Given the description of an element on the screen output the (x, y) to click on. 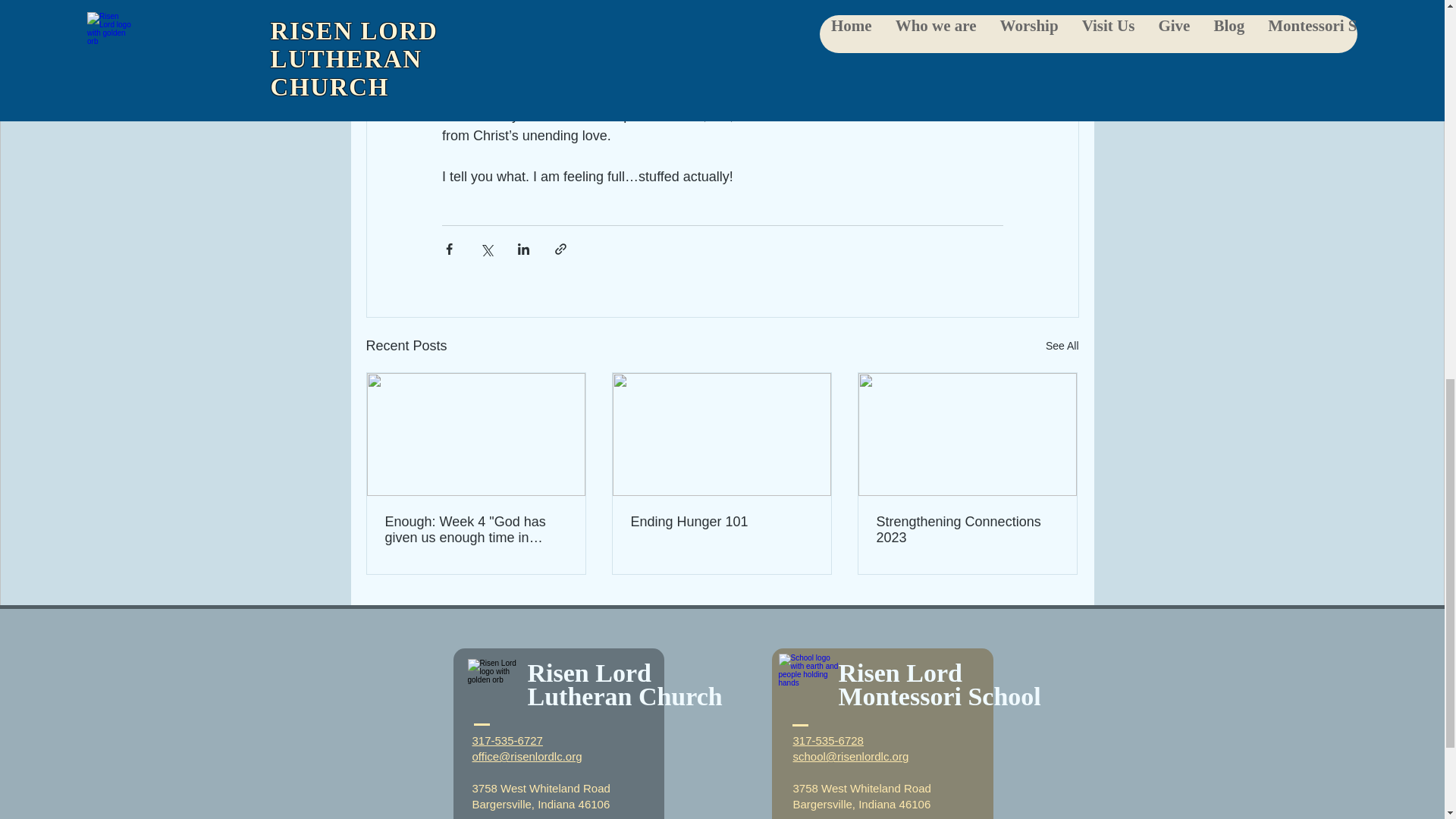
Enough: Week 4 "God has given us enough time in God's time!" (476, 530)
317-535-6727 (506, 739)
See All (1061, 345)
Strengthening Connections 2023 (967, 530)
Ending Hunger 101 (721, 521)
317-535-6728 (828, 739)
